Given the description of an element on the screen output the (x, y) to click on. 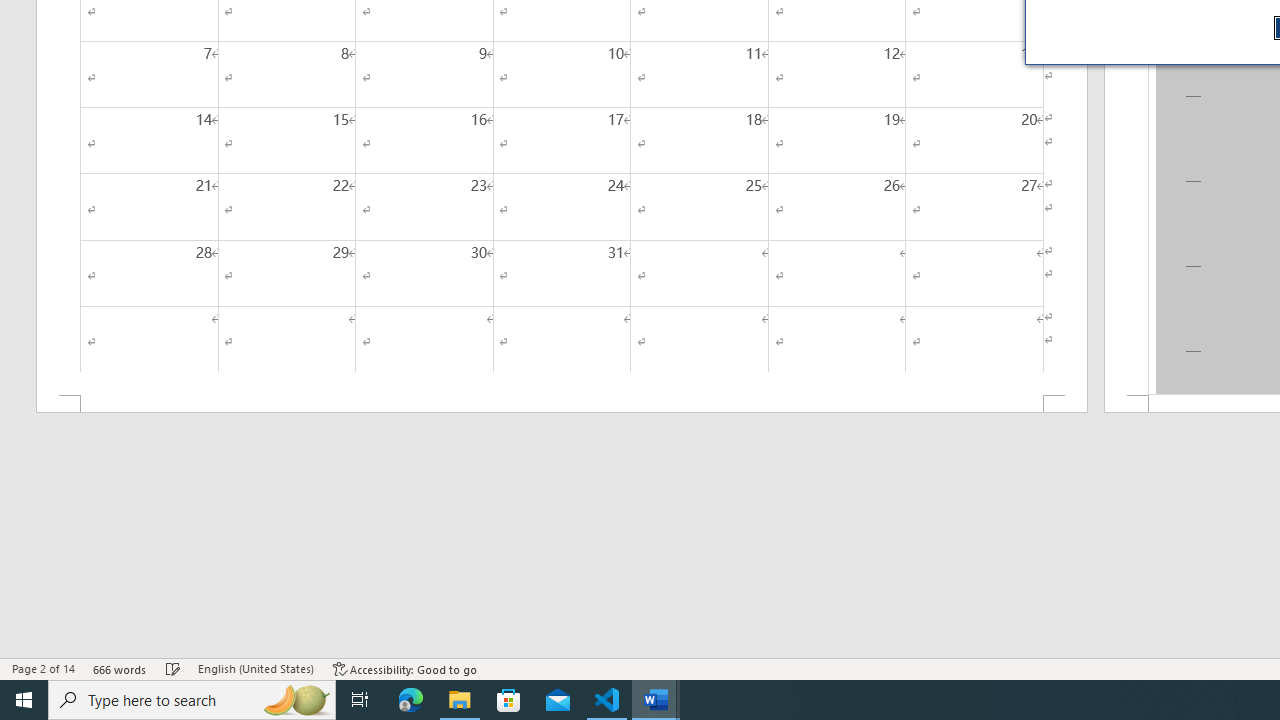
Microsoft Store (509, 699)
